Given the description of an element on the screen output the (x, y) to click on. 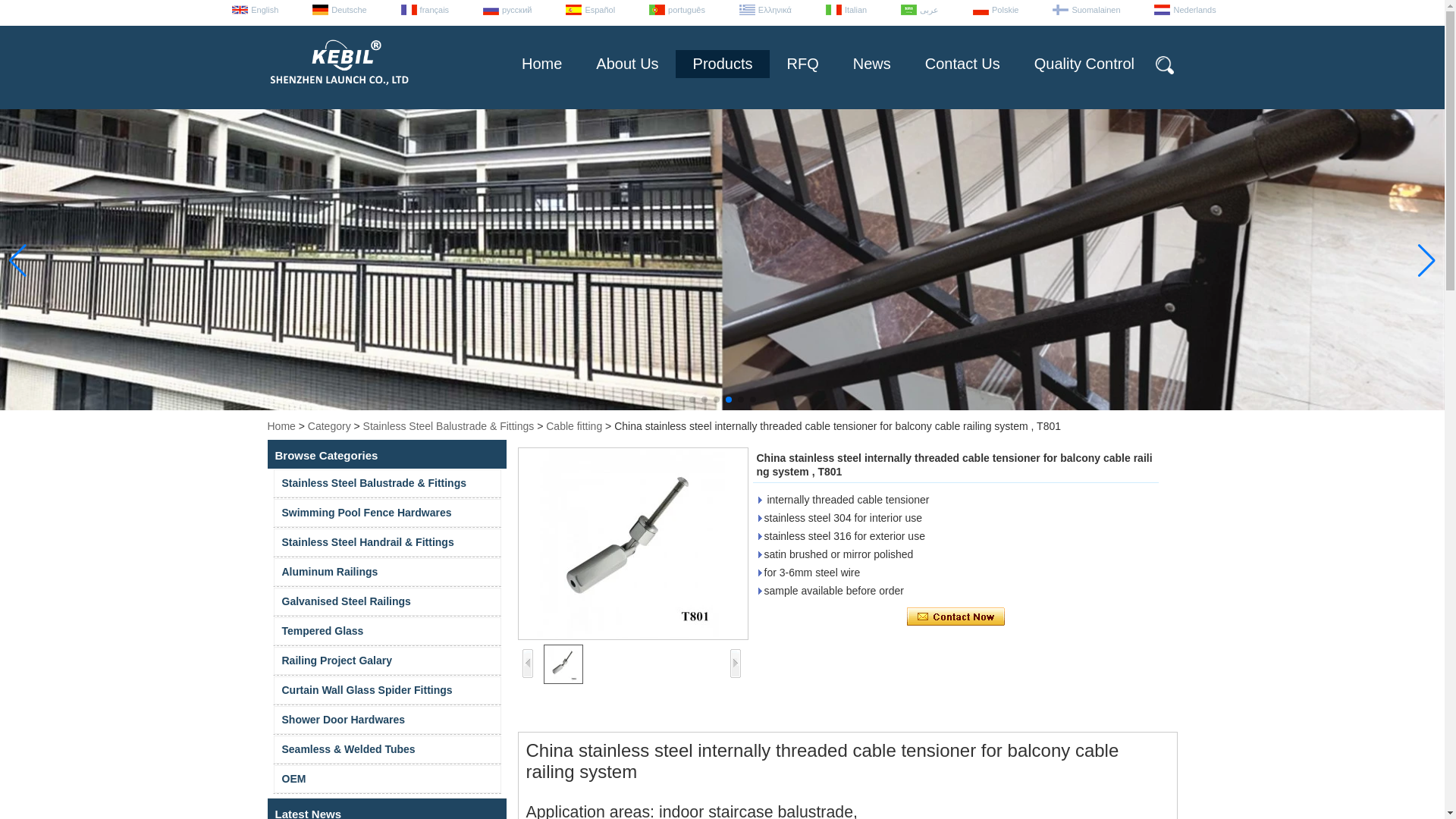
Suomalainen (1083, 9)
Nederlands (1182, 9)
Shenzhen Launch Co.,Ltd (336, 66)
Home (540, 63)
Polskie (993, 9)
English (253, 9)
About Us (627, 63)
Italian (844, 9)
Quality Control (1083, 63)
China Aluminum Railings manufacturer (386, 571)
News (871, 63)
Deutsche (337, 9)
RFQ (802, 63)
Shenzhen Launch Co.,Ltd (336, 91)
Contact Us (961, 63)
